Given the description of an element on the screen output the (x, y) to click on. 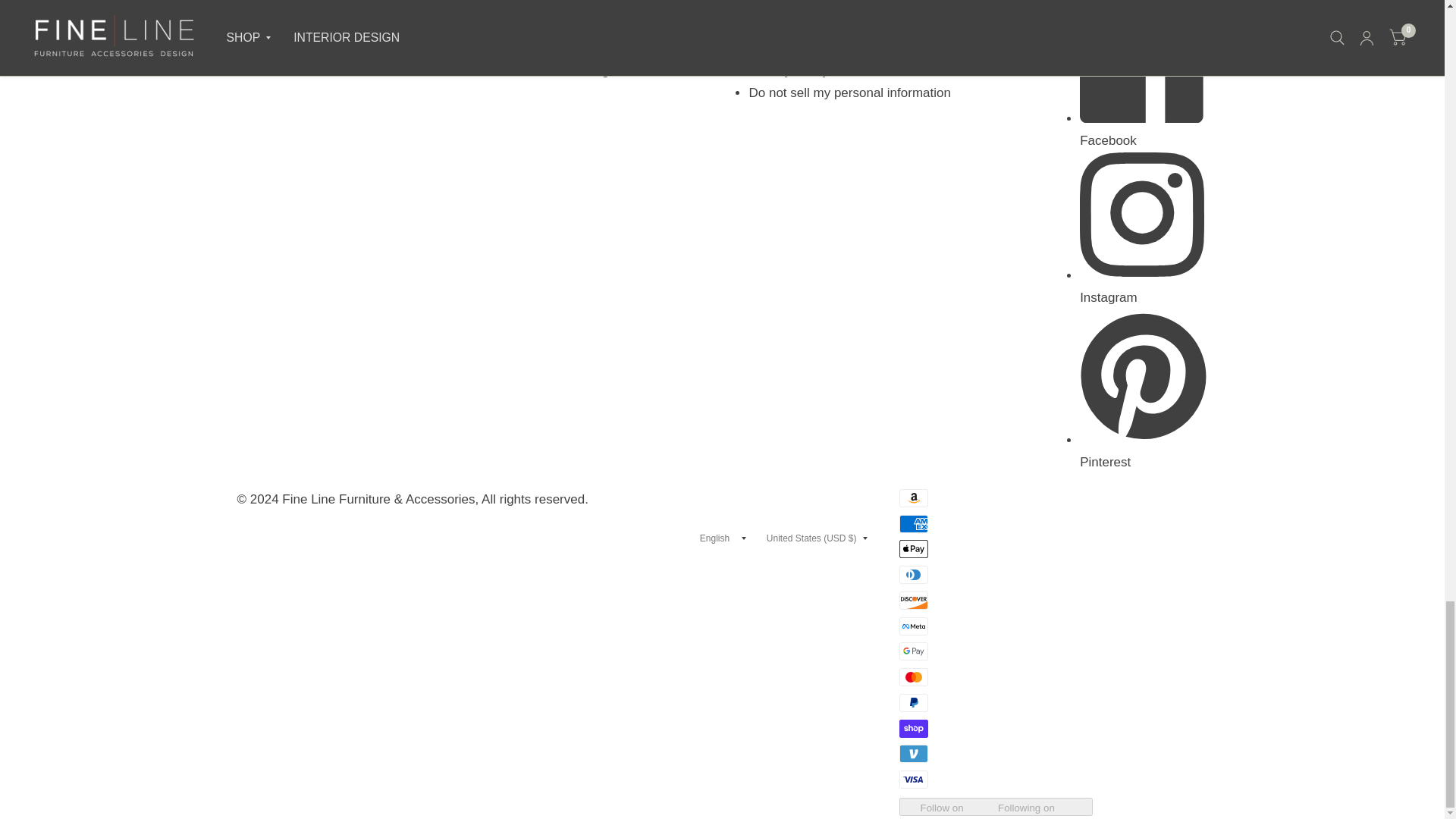
Amazon (913, 497)
Apple Pay (913, 548)
American Express (913, 524)
